Given the description of an element on the screen output the (x, y) to click on. 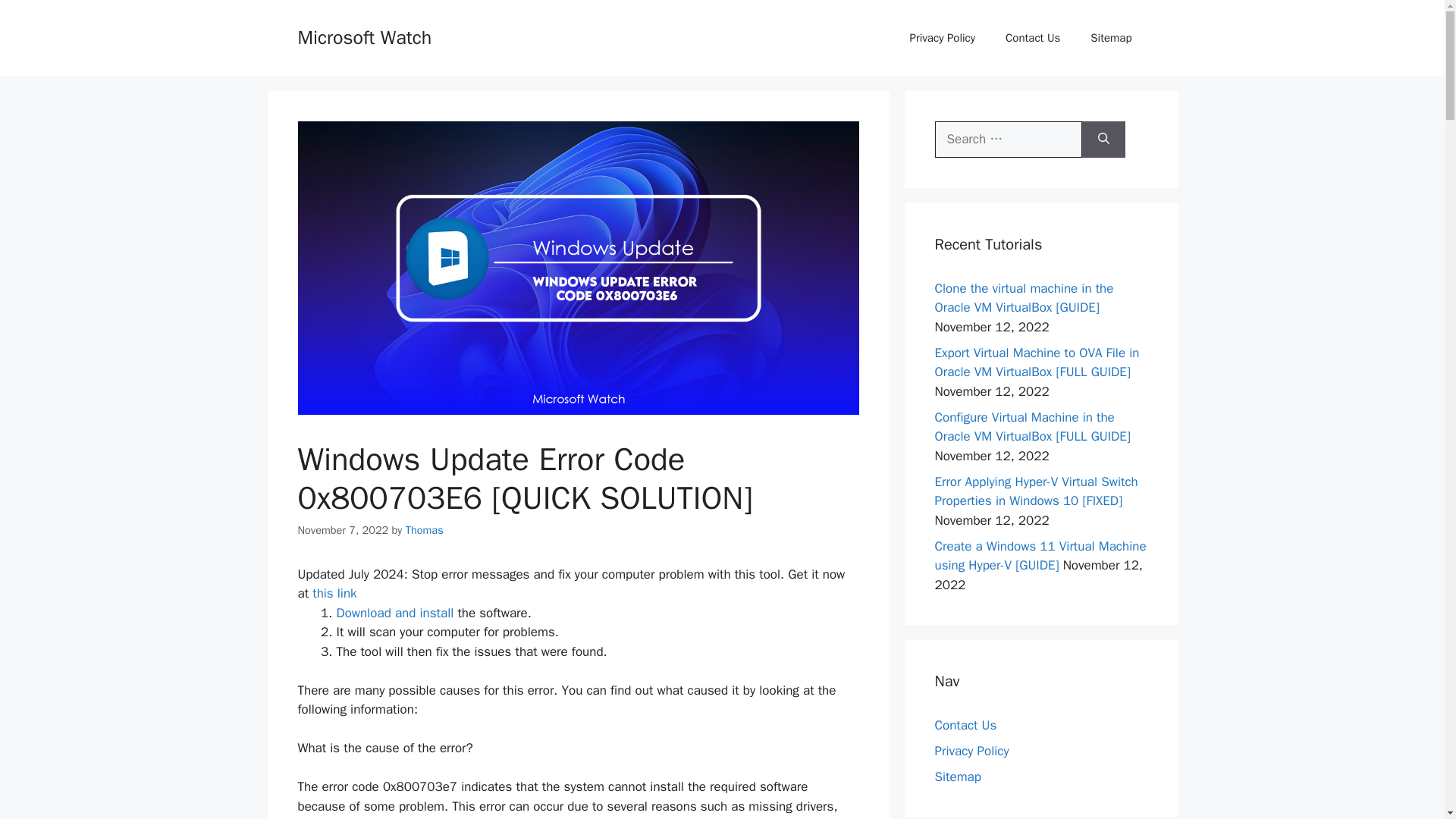
Thomas (425, 530)
Sitemap (1111, 37)
Contact Us (964, 725)
Privacy Policy (971, 750)
Microsoft Watch (363, 37)
Privacy Policy (941, 37)
this link (334, 593)
Contact Us (1032, 37)
View all posts by Thomas (425, 530)
Download and install (395, 612)
